Given the description of an element on the screen output the (x, y) to click on. 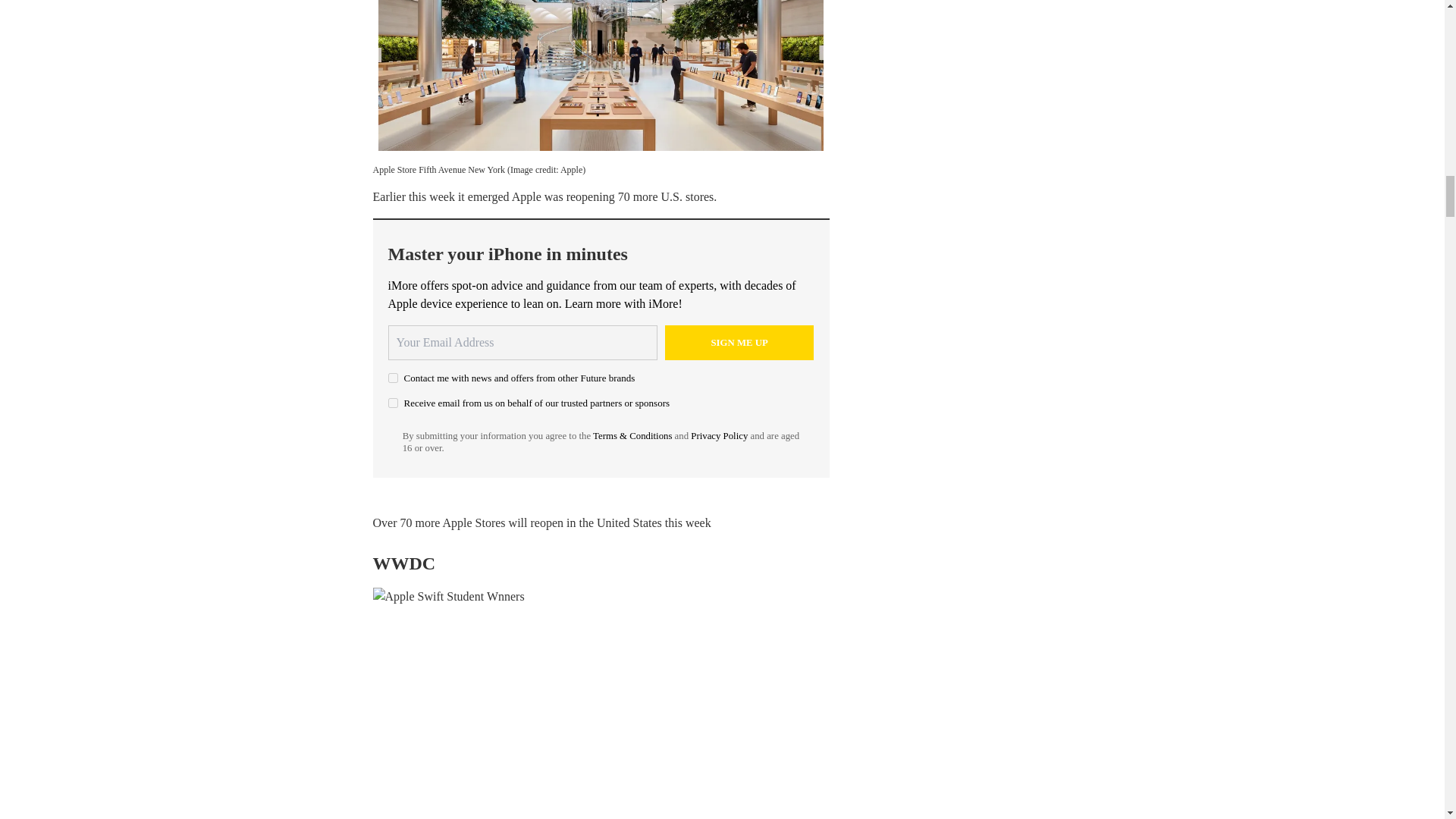
Sign me up (739, 342)
on (392, 378)
on (392, 402)
